Given the description of an element on the screen output the (x, y) to click on. 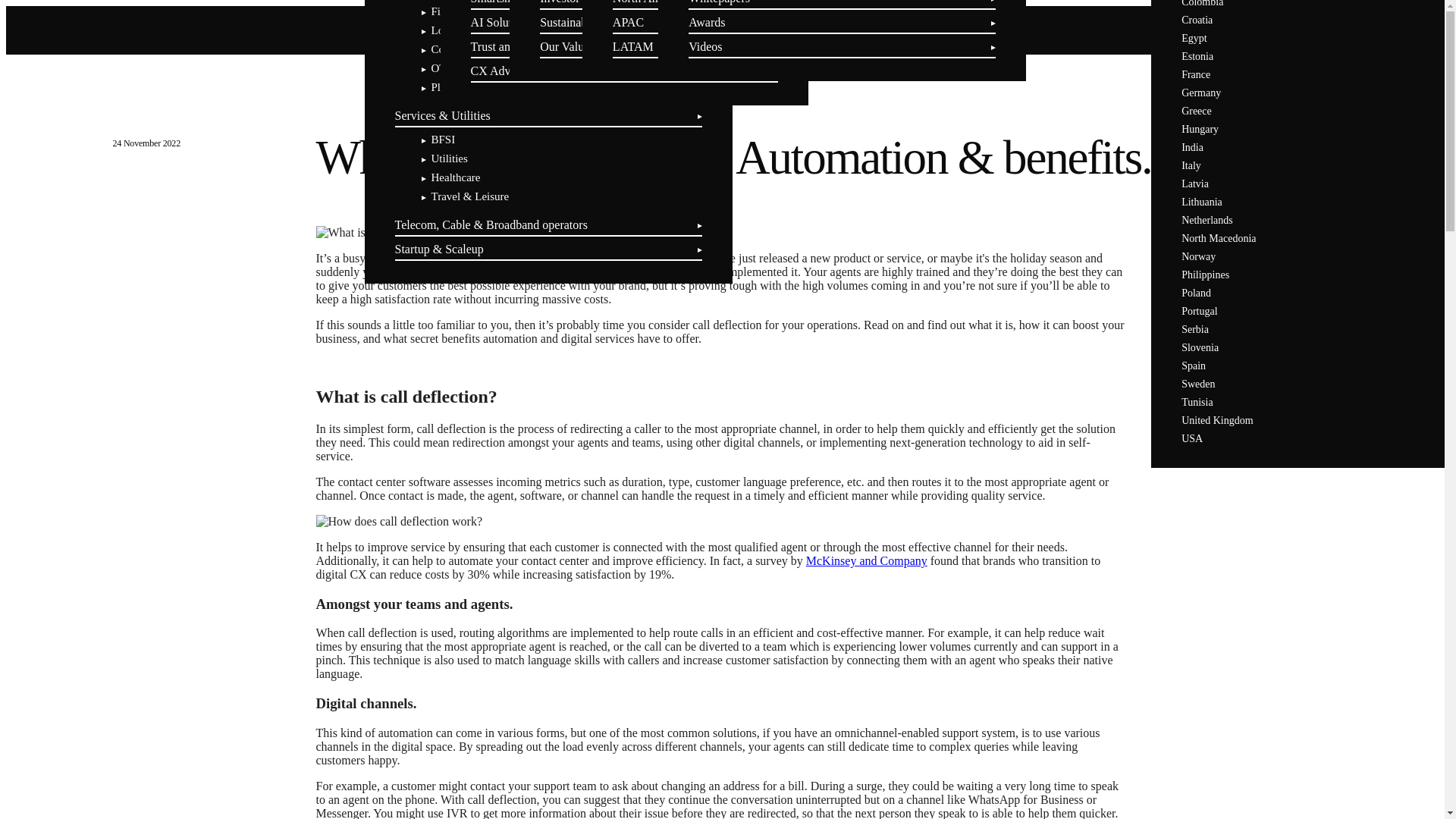
North America (648, 2)
Sustainability (573, 21)
OTT (441, 68)
Our Values (567, 46)
Smartshoring services (524, 2)
Investor relations (582, 2)
APAC (627, 21)
AI Solutions (501, 21)
Consumer durables (474, 49)
CX Advisory (502, 70)
FinTech (448, 10)
Trust and Safety (510, 46)
LATAM (632, 46)
Logistics (450, 30)
Whitepapers (718, 2)
